Given the description of an element on the screen output the (x, y) to click on. 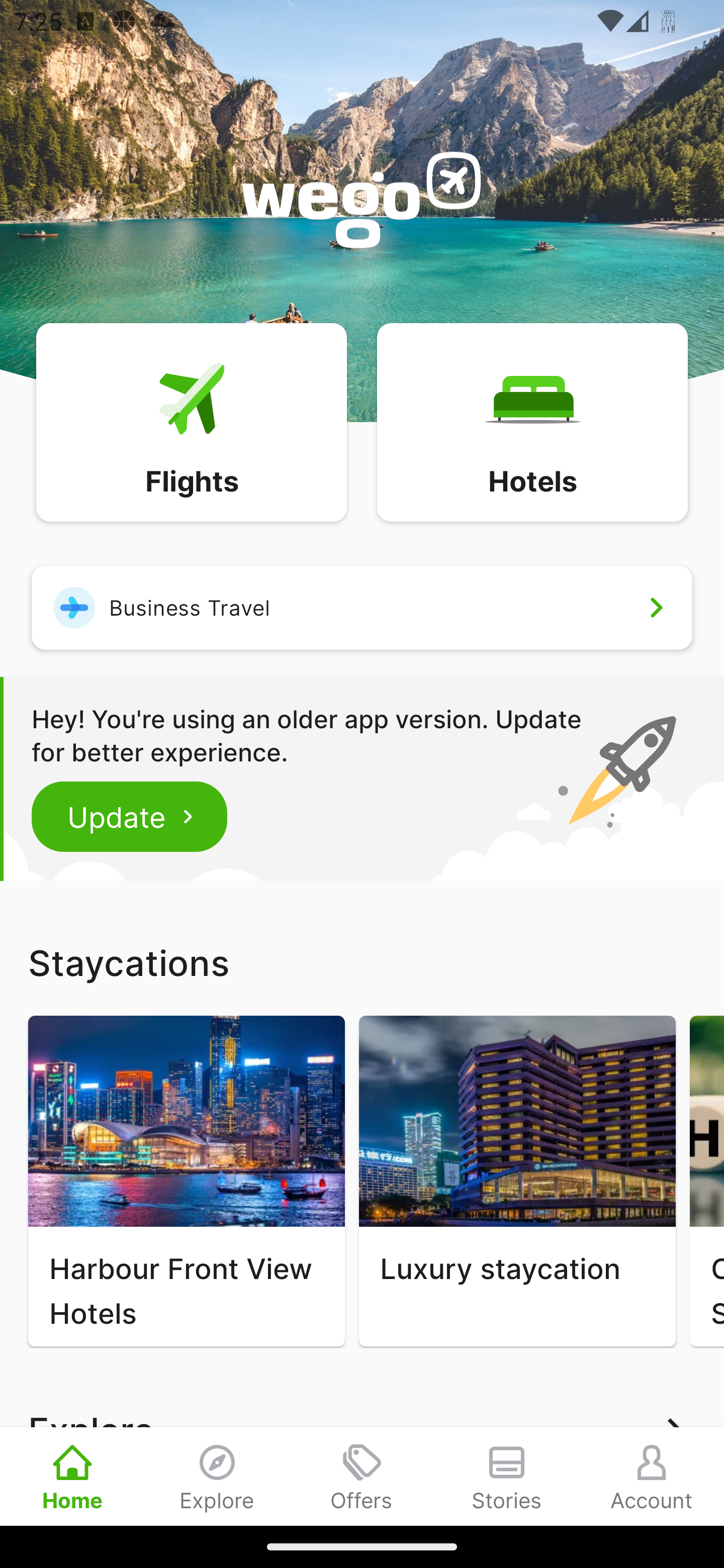
Flights (191, 420)
Hotels (532, 420)
Business Travel (361, 607)
Update (129, 815)
Staycations (362, 962)
Harbour Front View Hotels (186, 1181)
Luxury staycation (517, 1181)
Explore (216, 1475)
Offers (361, 1475)
Stories (506, 1475)
Account (651, 1475)
